Given the description of an element on the screen output the (x, y) to click on. 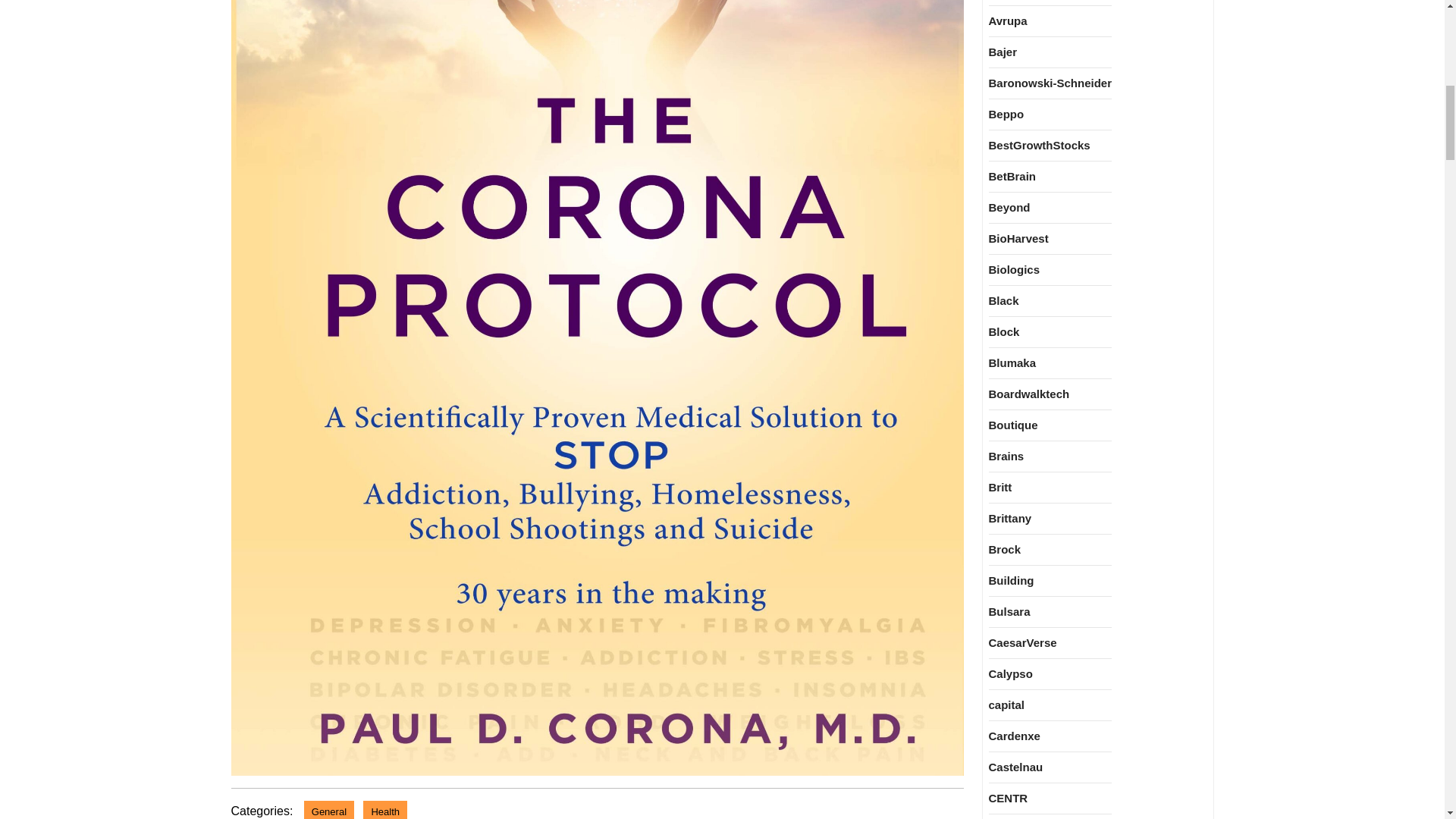
Health (384, 809)
General (328, 809)
